Given the description of an element on the screen output the (x, y) to click on. 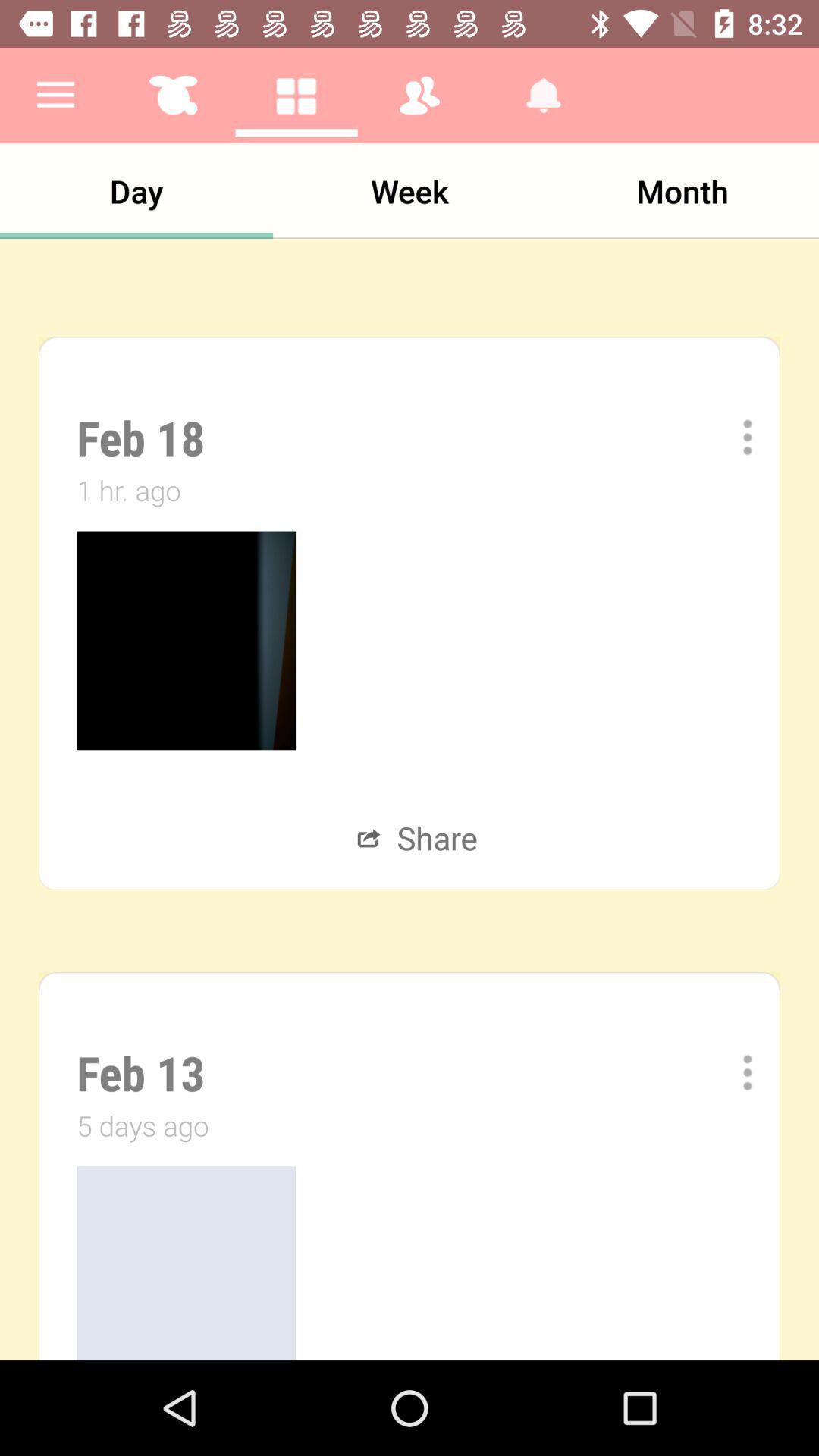
select the button which is right to the menu button (173, 95)
click month (682, 190)
